Given the description of an element on the screen output the (x, y) to click on. 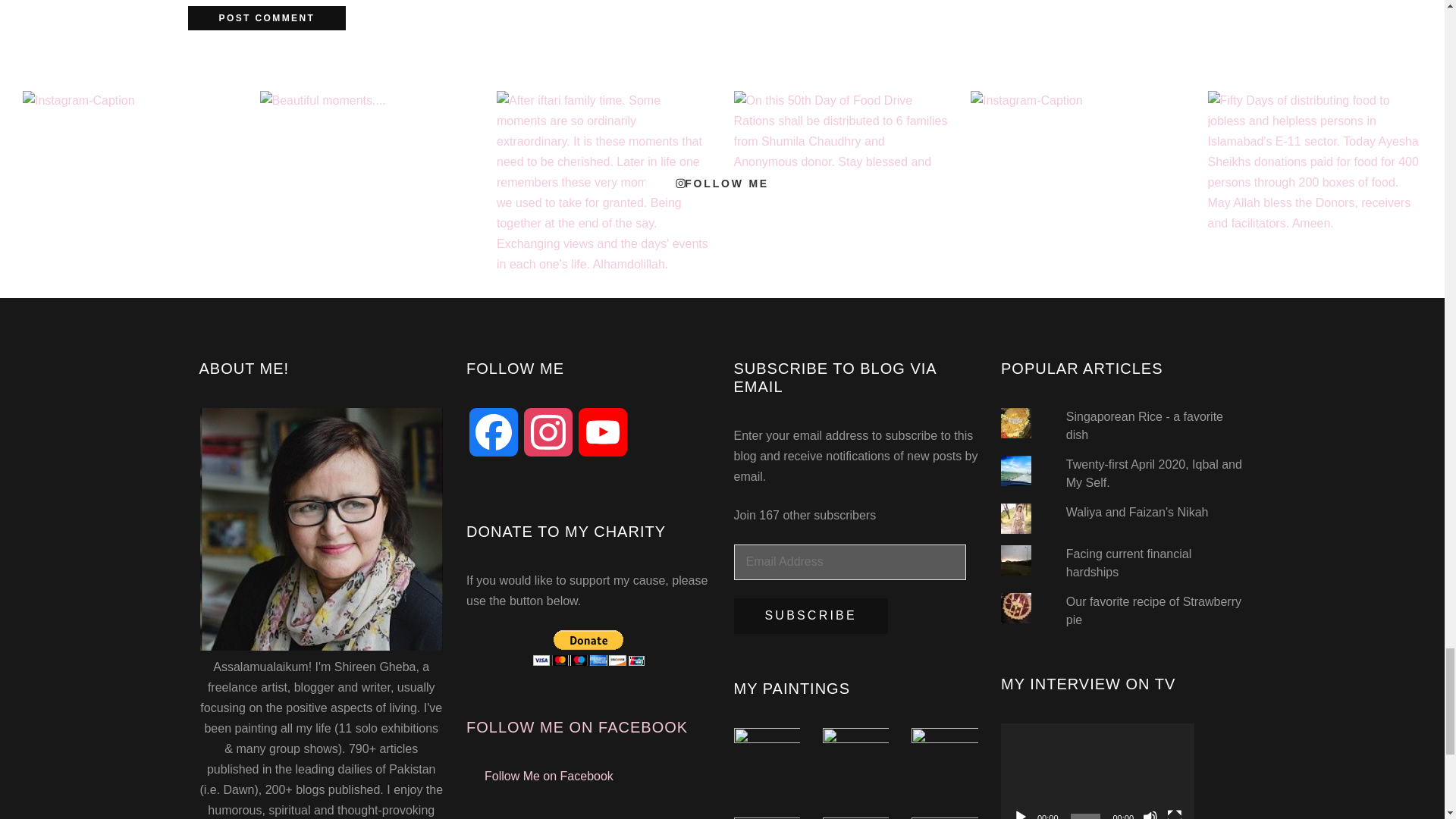
Post Comment (266, 17)
